Given the description of an element on the screen output the (x, y) to click on. 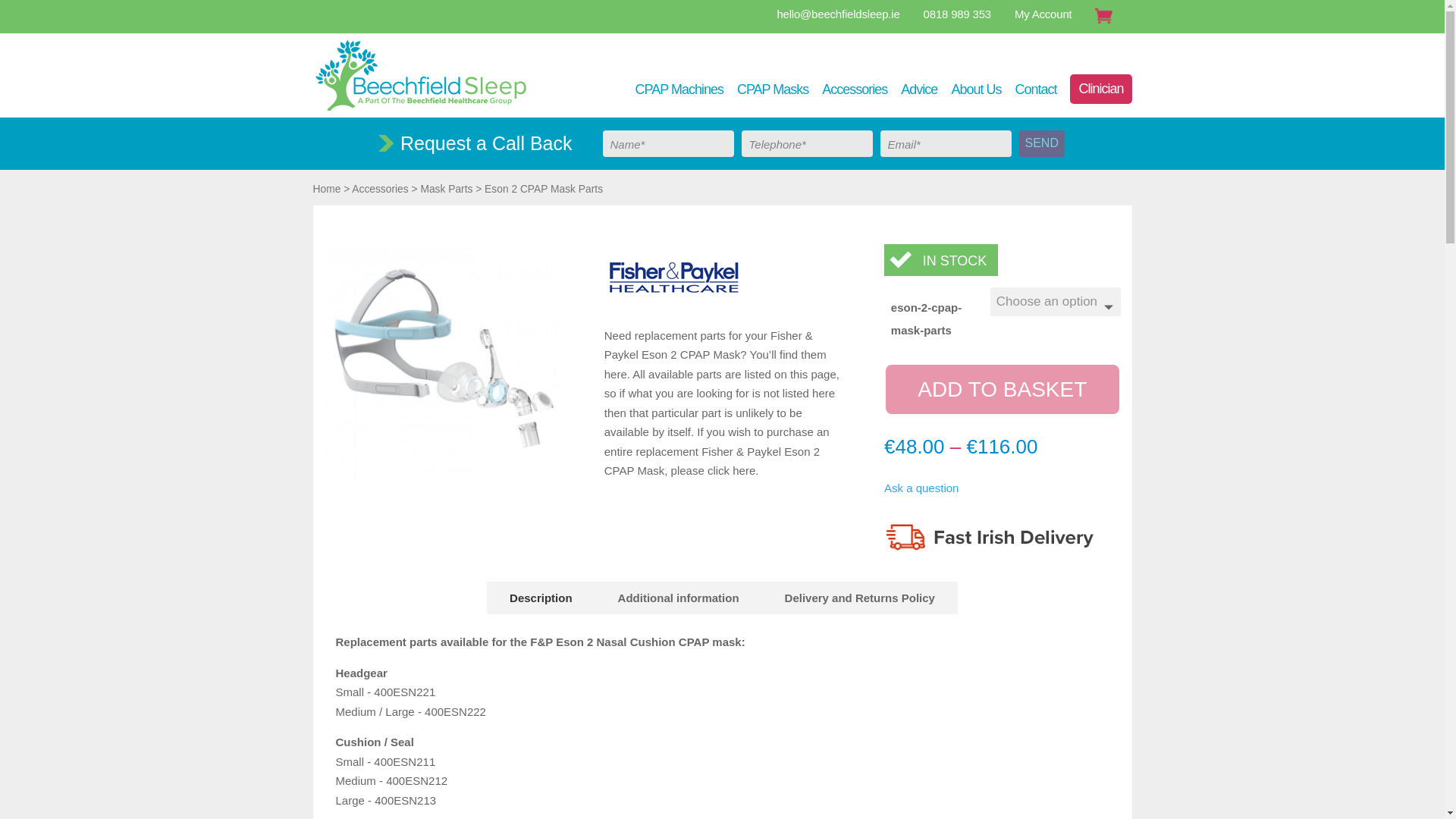
0818 989 353 (957, 13)
Advice (919, 89)
My Account (1042, 13)
Clinician (1100, 89)
Contact (1035, 89)
My Basket (1108, 18)
delivery (992, 536)
CPAP Masks (772, 89)
eson-2-nasal-cpap-mask-fisher-paykel (442, 475)
SEND (1041, 143)
Accessories (854, 89)
About Us (975, 89)
CPAP Machines (678, 89)
fisher-and-paykel-cpap-ireland (674, 277)
